Given the description of an element on the screen output the (x, y) to click on. 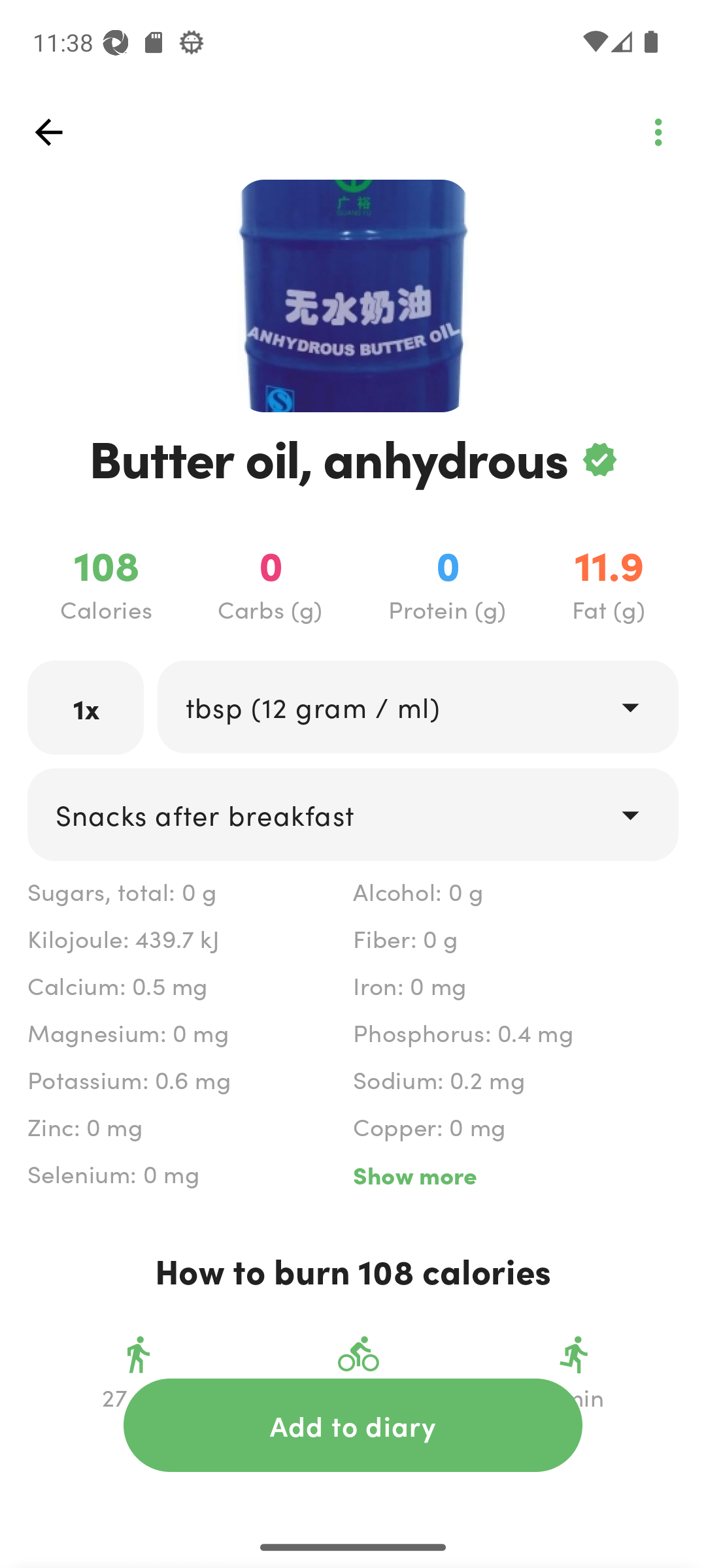
top_left_action (48, 132)
top_left_action (658, 132)
1x labeled_edit_text (85, 707)
drop_down tbsp (12 gram / ml) (417, 706)
drop_down Snacks after breakfast (352, 814)
Show more (515, 1174)
action_button Add to diary (352, 1425)
